Given the description of an element on the screen output the (x, y) to click on. 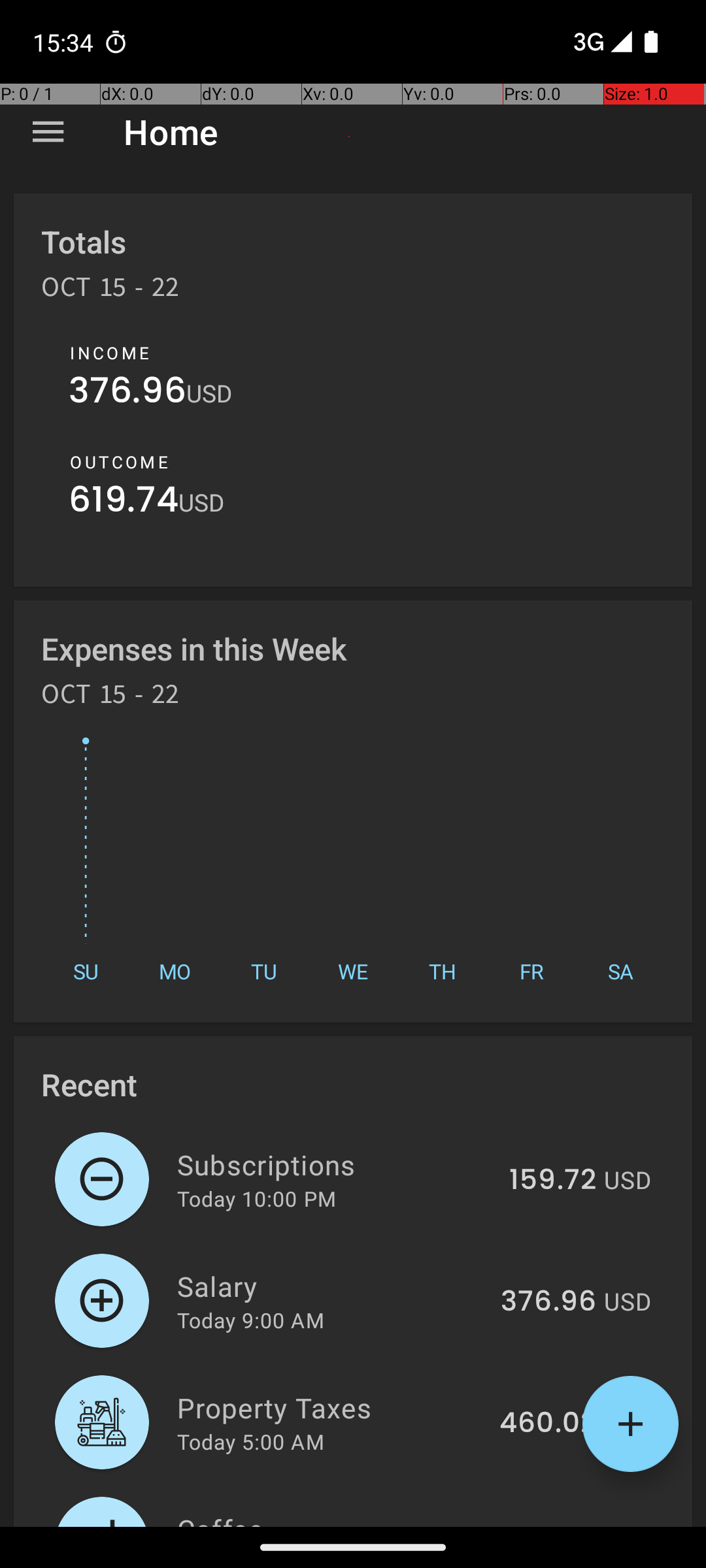
376.96 Element type: android.widget.TextView (127, 393)
619.74 Element type: android.widget.TextView (123, 502)
159.72 Element type: android.widget.TextView (552, 1180)
Salary Element type: android.widget.TextView (331, 1285)
Property Taxes Element type: android.widget.TextView (330, 1407)
460.02 Element type: android.widget.TextView (547, 1423)
398.28 Element type: android.widget.TextView (548, 1524)
